Given the description of an element on the screen output the (x, y) to click on. 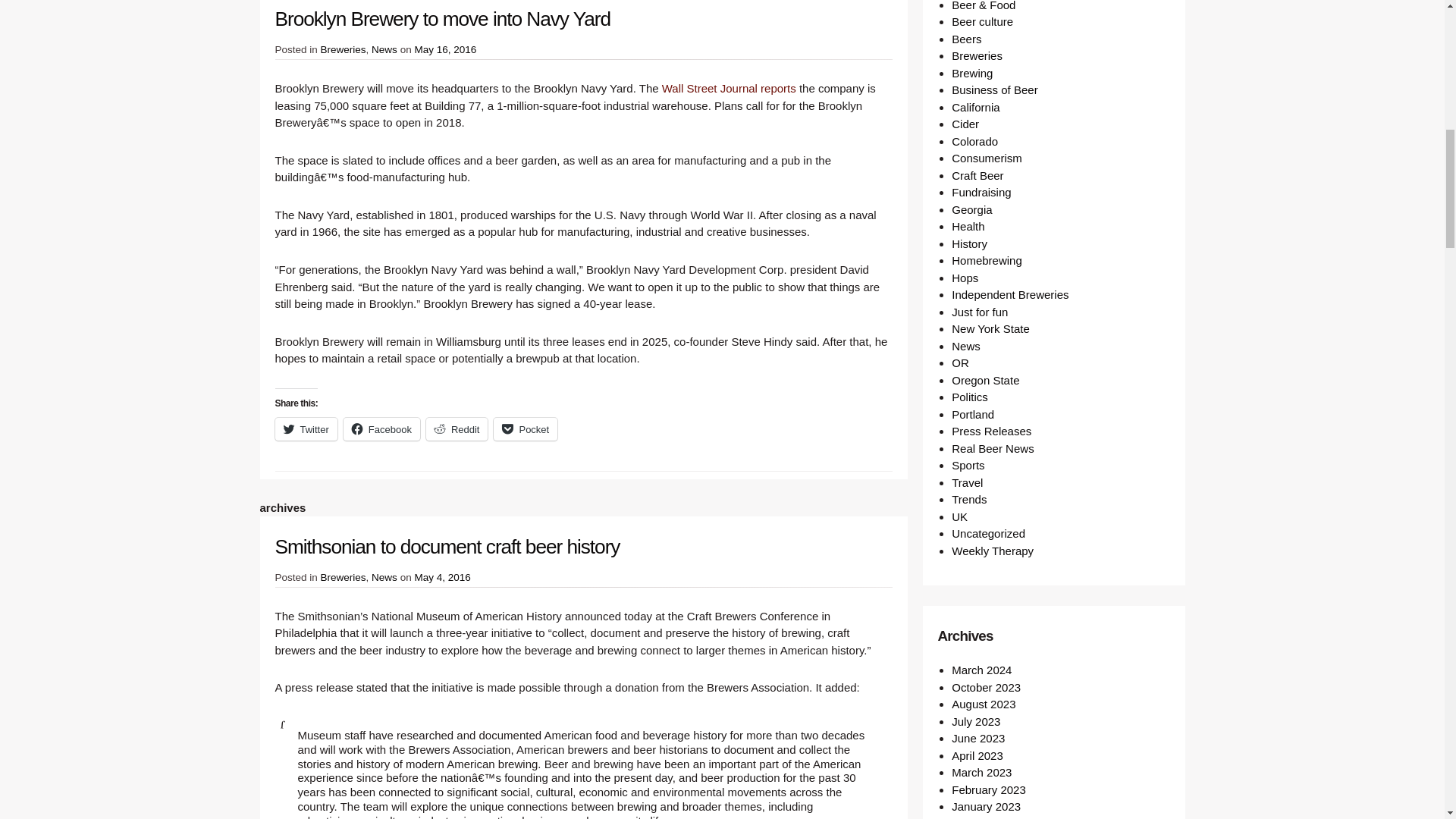
Twitter (305, 428)
Click to share on Pocket (525, 428)
News (384, 577)
Wall Street Journal reports (729, 88)
6:10 am (444, 49)
Breweries (343, 577)
Pocket (525, 428)
Smithsonian to document craft beer history (447, 546)
Click to share on Facebook (381, 428)
Click to share on Twitter (305, 428)
